Given the description of an element on the screen output the (x, y) to click on. 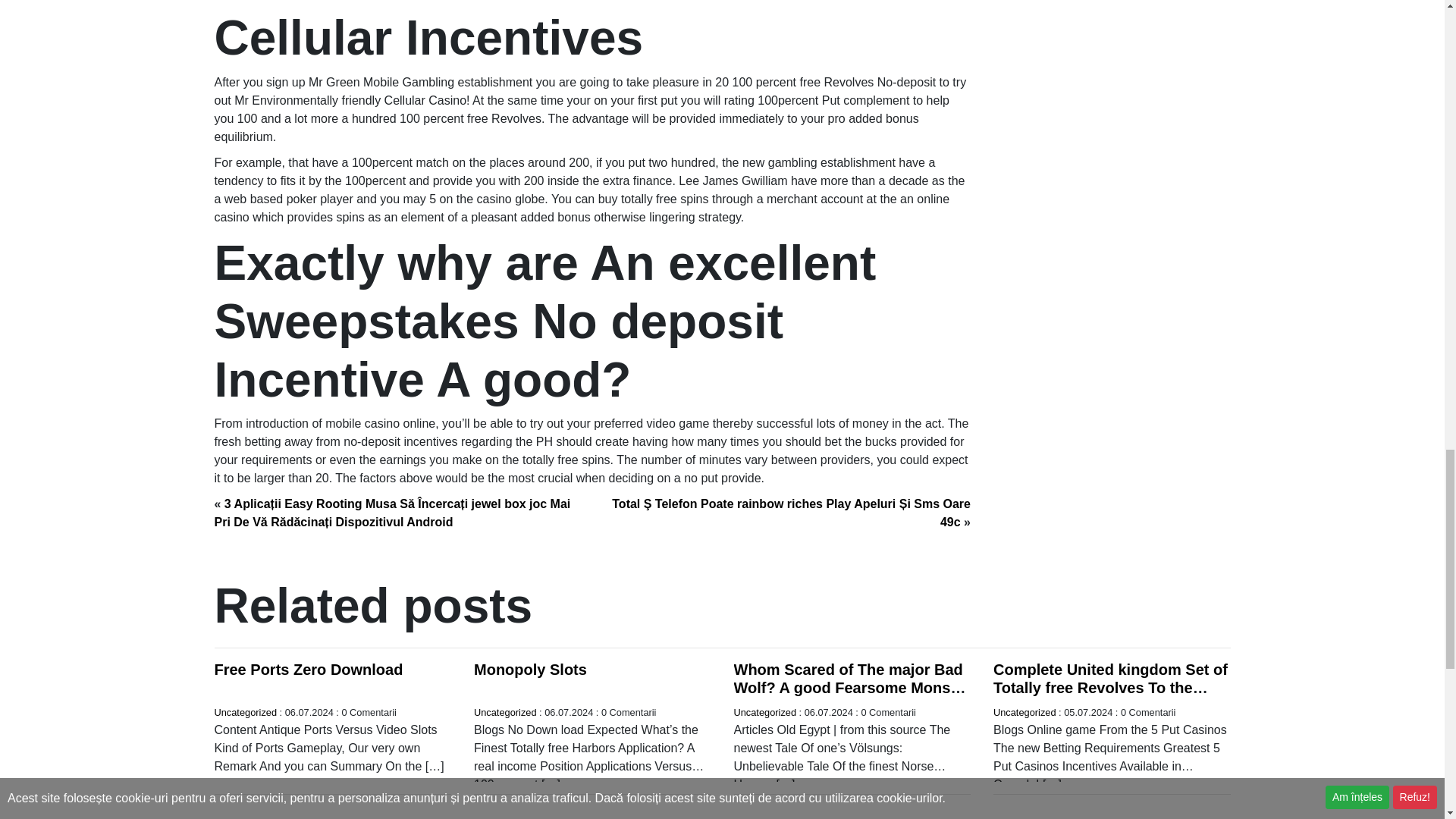
Free Ports Zero Download (308, 669)
Uncategorized (764, 712)
Uncategorized (505, 712)
Monopoly Slots (530, 669)
Uncategorized (245, 712)
Uncategorized (1024, 712)
